Given the description of an element on the screen output the (x, y) to click on. 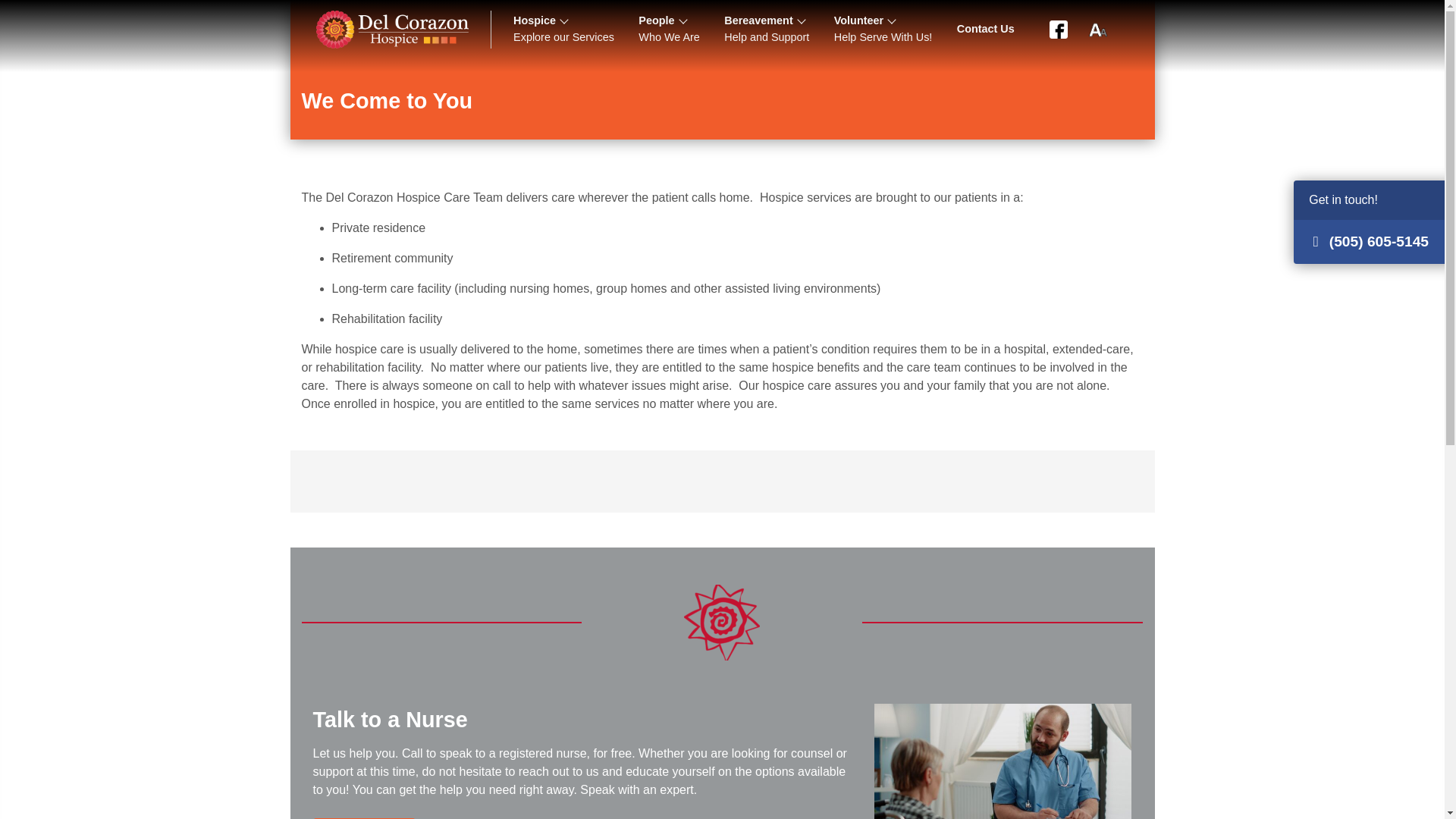
HospiceExplore our Services (563, 29)
PeopleWho We Are (668, 29)
BereavementHelp and Support (766, 29)
VolunteerHelp Serve With Us! (883, 29)
DCH-Sun (722, 622)
Contact Us (985, 29)
